Given the description of an element on the screen output the (x, y) to click on. 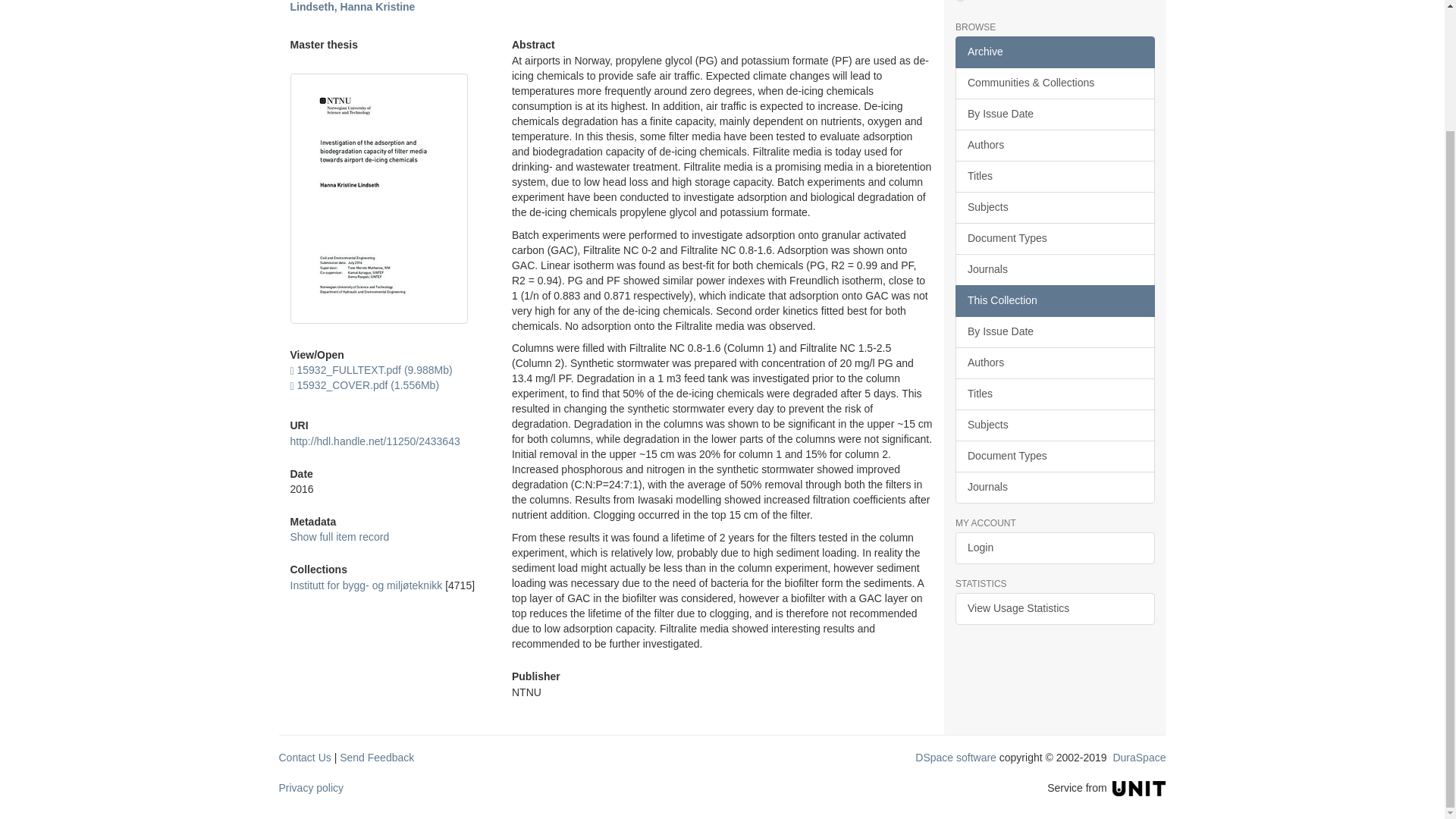
Lindseth, Hanna Kristine (351, 6)
Show full item record (338, 536)
Document Types (1054, 238)
Subjects (1054, 207)
Titles (1054, 176)
Archive (1054, 51)
Unit (1139, 787)
By Issue Date (1054, 114)
Authors (1054, 145)
